Given the description of an element on the screen output the (x, y) to click on. 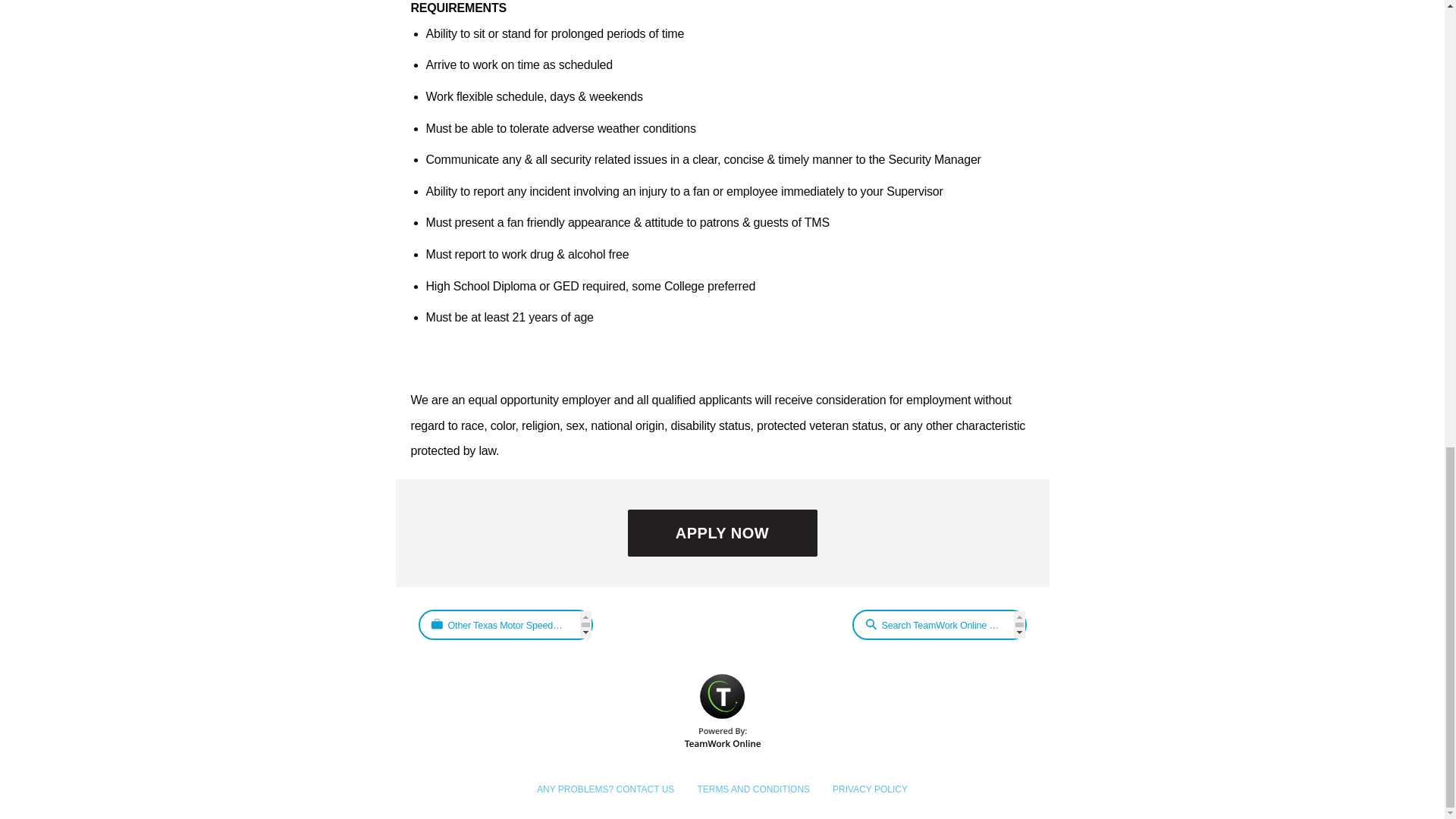
ANY PROBLEMS? CONTACT US (605, 788)
Other Texas Motor Speedway Jobs (505, 624)
Search TeamWork Online Jobs (938, 624)
TERMS AND CONDITIONS (753, 788)
APPLY NOW (721, 532)
PRIVACY POLICY (869, 788)
